Given the description of an element on the screen output the (x, y) to click on. 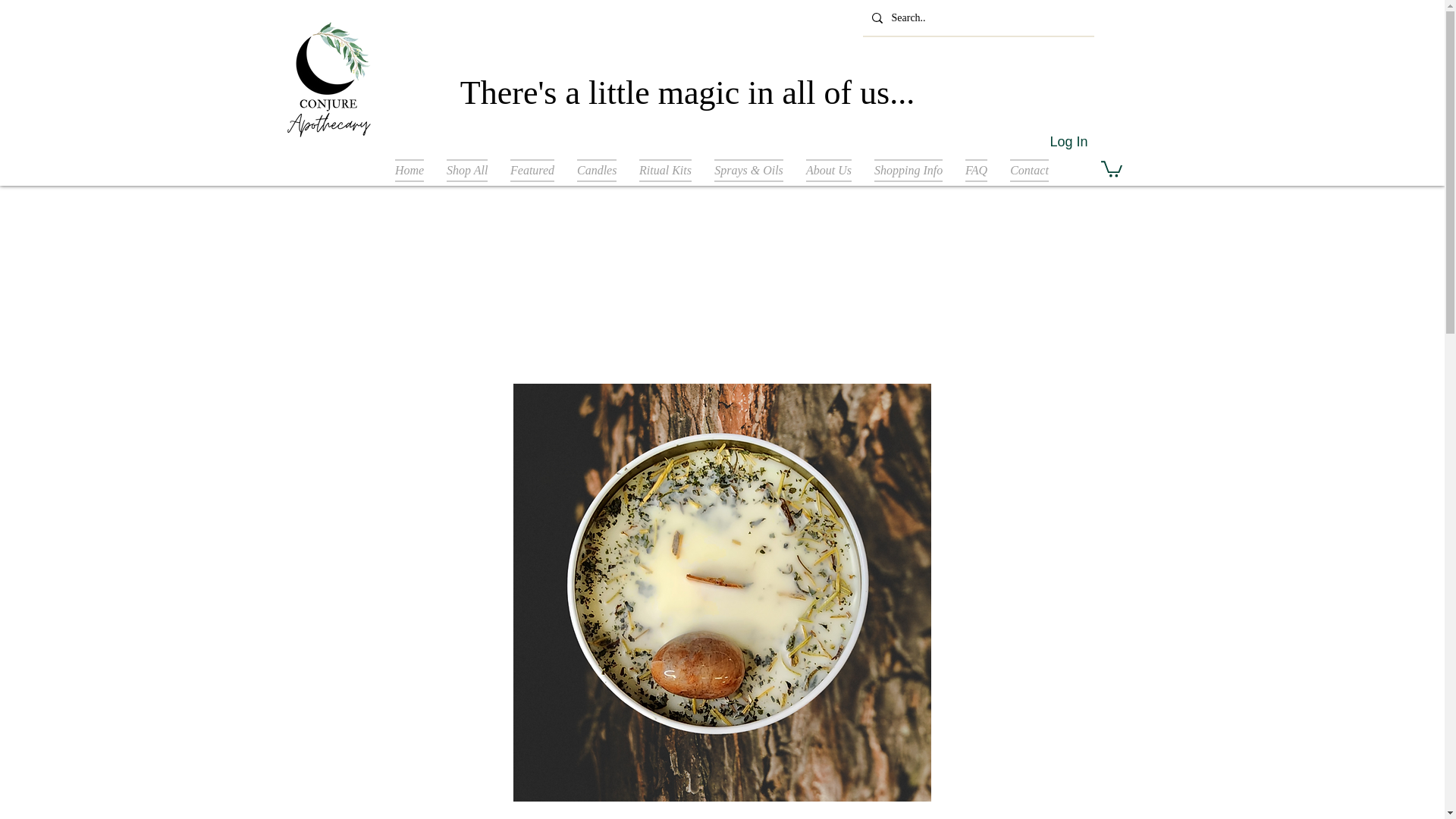
FAQ (975, 169)
Log In (1068, 142)
About Us (828, 169)
Home (409, 169)
Featured (532, 169)
Shopping Info (908, 169)
Contact (1028, 169)
Ritual Kits (665, 169)
Candles (596, 169)
Shop All (467, 169)
